Given the description of an element on the screen output the (x, y) to click on. 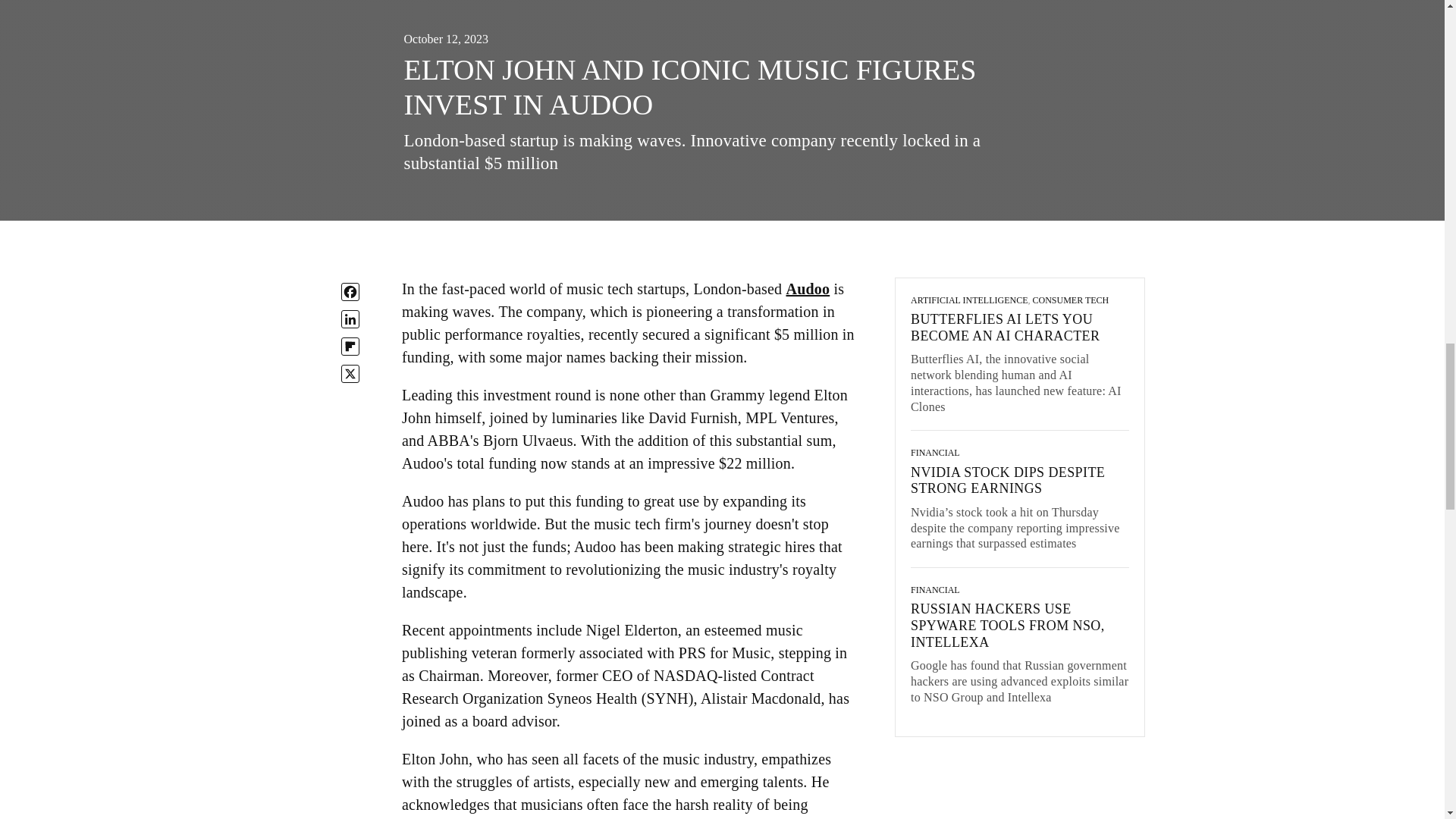
Flipboard (349, 346)
Linkedin (349, 319)
Facebook (349, 291)
X (349, 373)
